Given the description of an element on the screen output the (x, y) to click on. 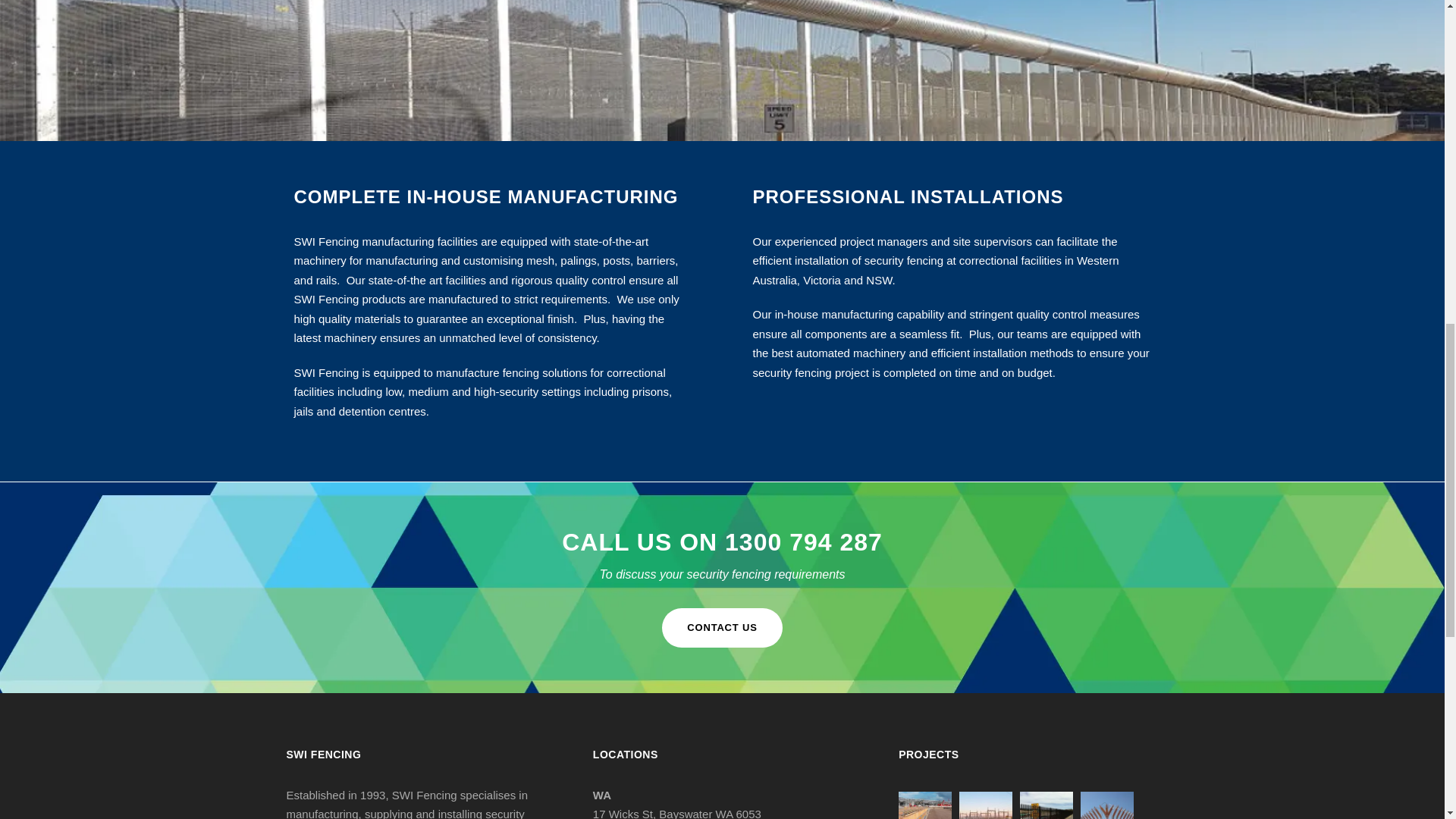
Wedgefield Substation palisade fencing (1107, 805)
INPEX Icthys LNG facilities handrail (925, 805)
horizon-power-west-pilbara-substation-2 (985, 805)
Binningup Desalination Plant high security palisade fencing (1046, 805)
